Given the description of an element on the screen output the (x, y) to click on. 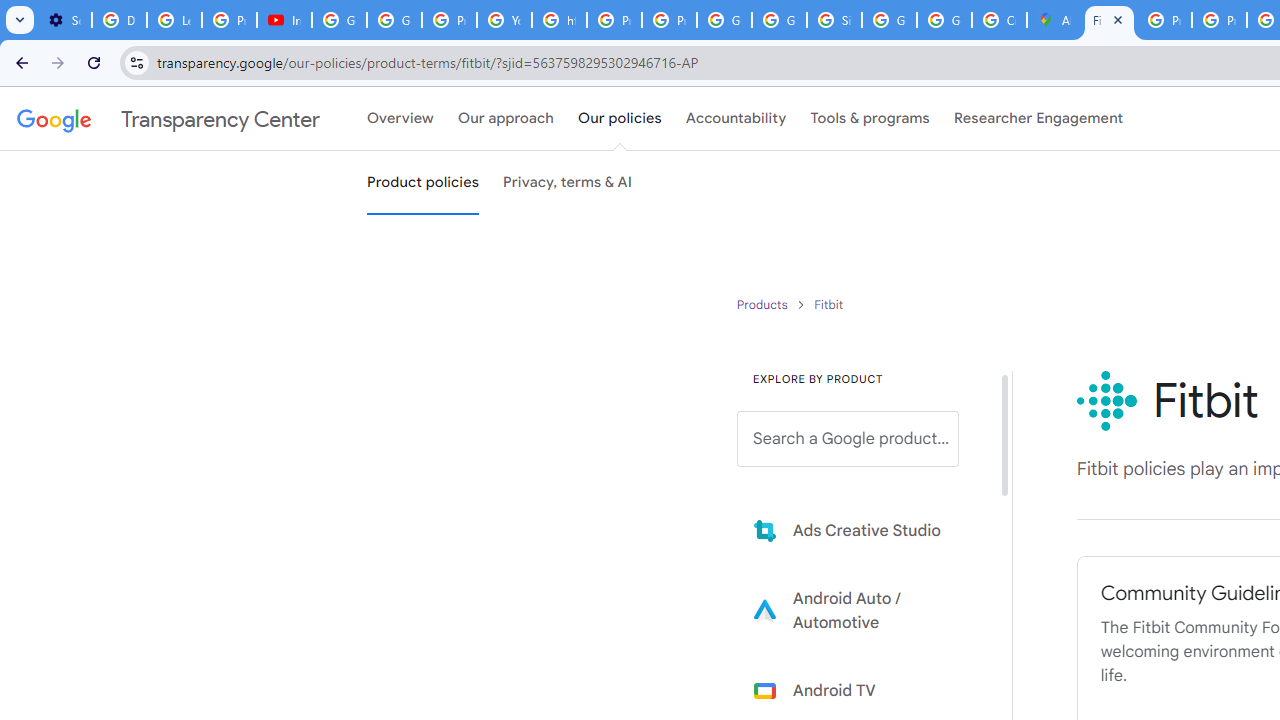
Sign in - Google Accounts (833, 20)
Google Account Help (339, 20)
Introduction | Google Privacy Policy - YouTube (284, 20)
Our approach (506, 119)
Search a Google product from below list. (847, 439)
Privacy Help Center - Policies Help (1218, 20)
Transparency Center (167, 119)
